Given the description of an element on the screen output the (x, y) to click on. 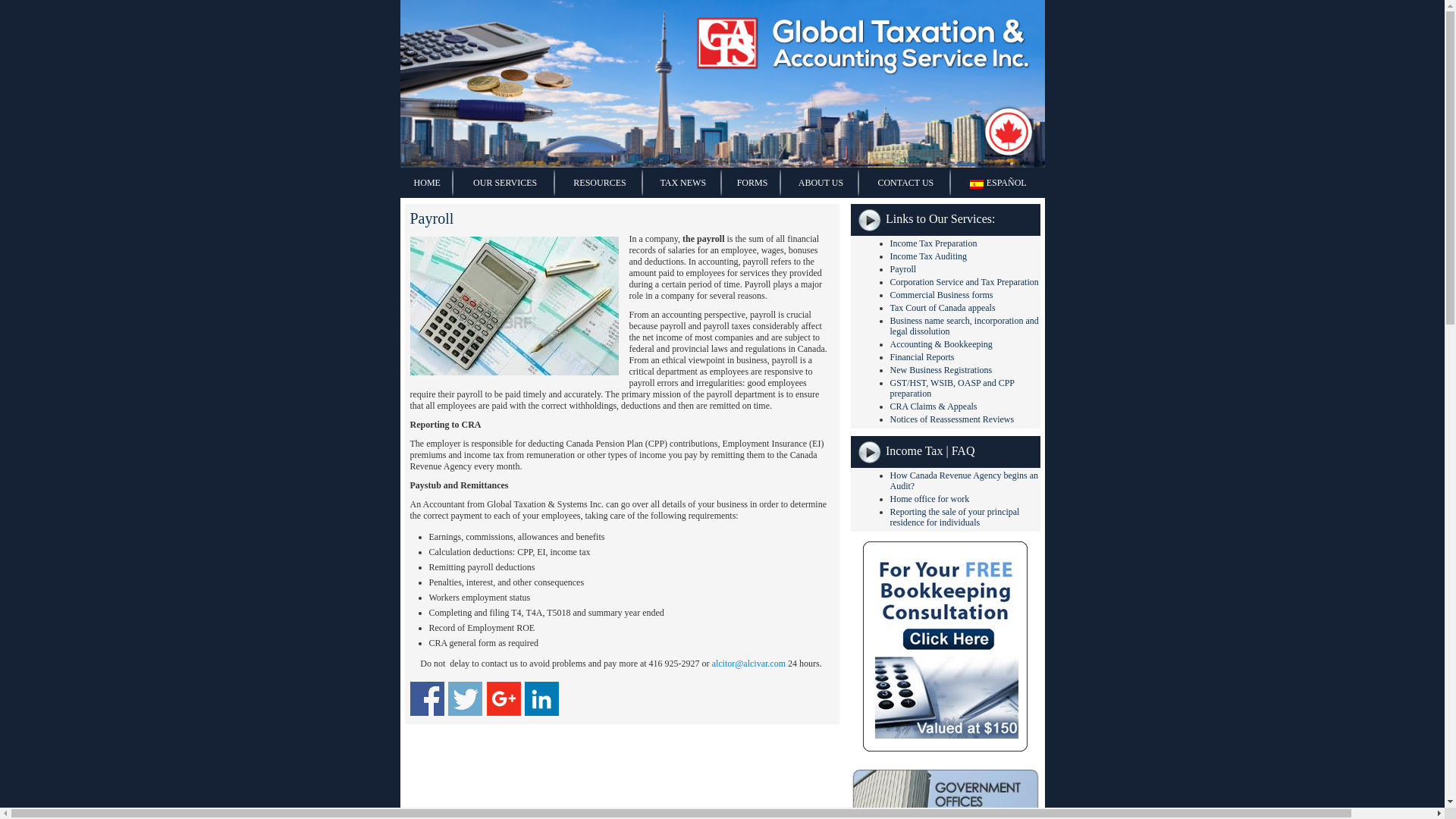
HOME (427, 182)
Payroll (903, 268)
Share on Linkedin (541, 698)
Share on Facebook (426, 698)
TAX NEWS (682, 182)
OUR SERVICES (505, 182)
CONTACT US (906, 182)
Income Tax Auditing (928, 255)
New Business Registrations (940, 369)
Business name search, incorporation and legal dissolution (964, 325)
